Given the description of an element on the screen output the (x, y) to click on. 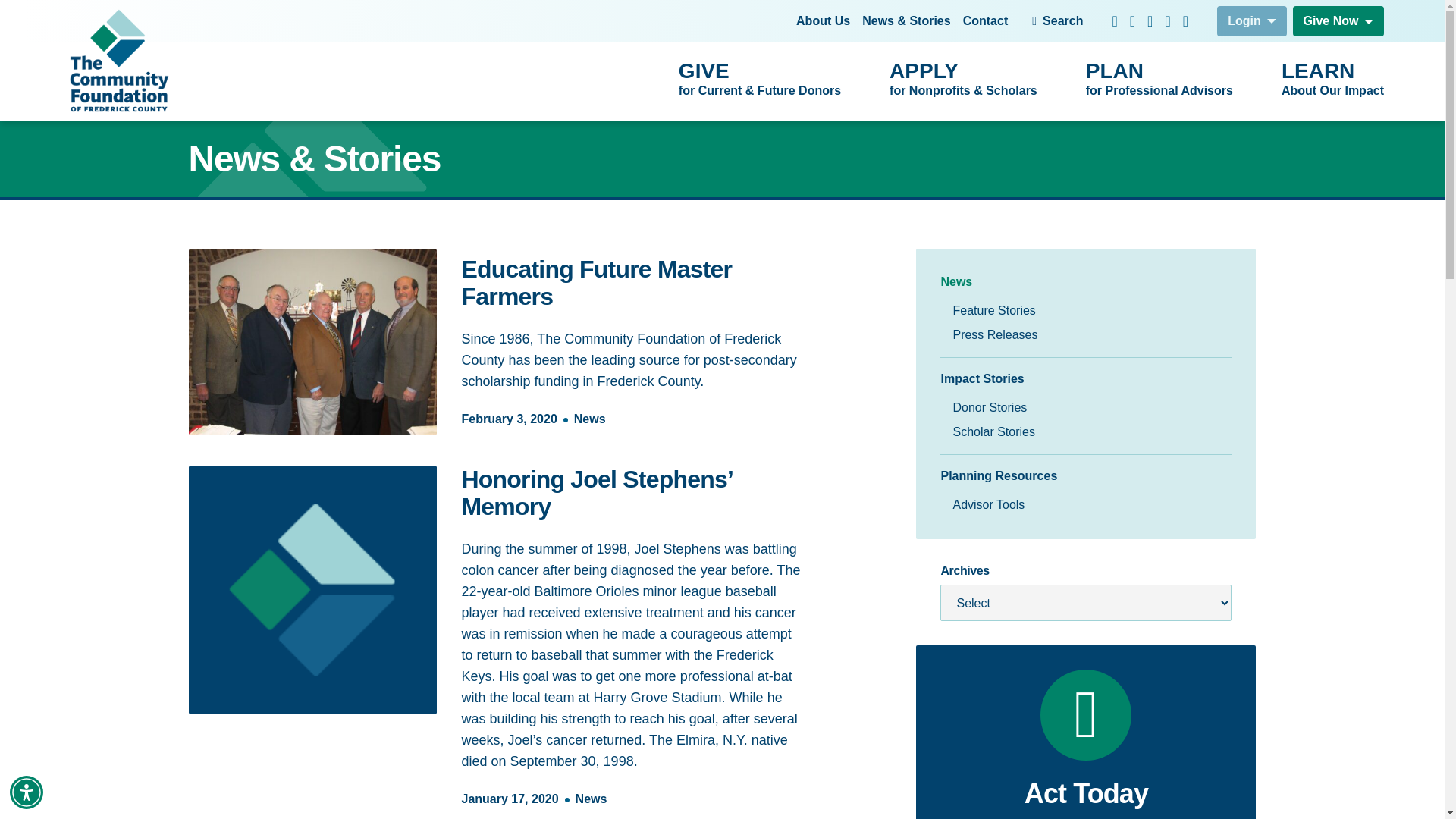
Contact (985, 21)
About Us (1159, 79)
Search (823, 21)
Accessibility Menu (1057, 20)
